Given the description of an element on the screen output the (x, y) to click on. 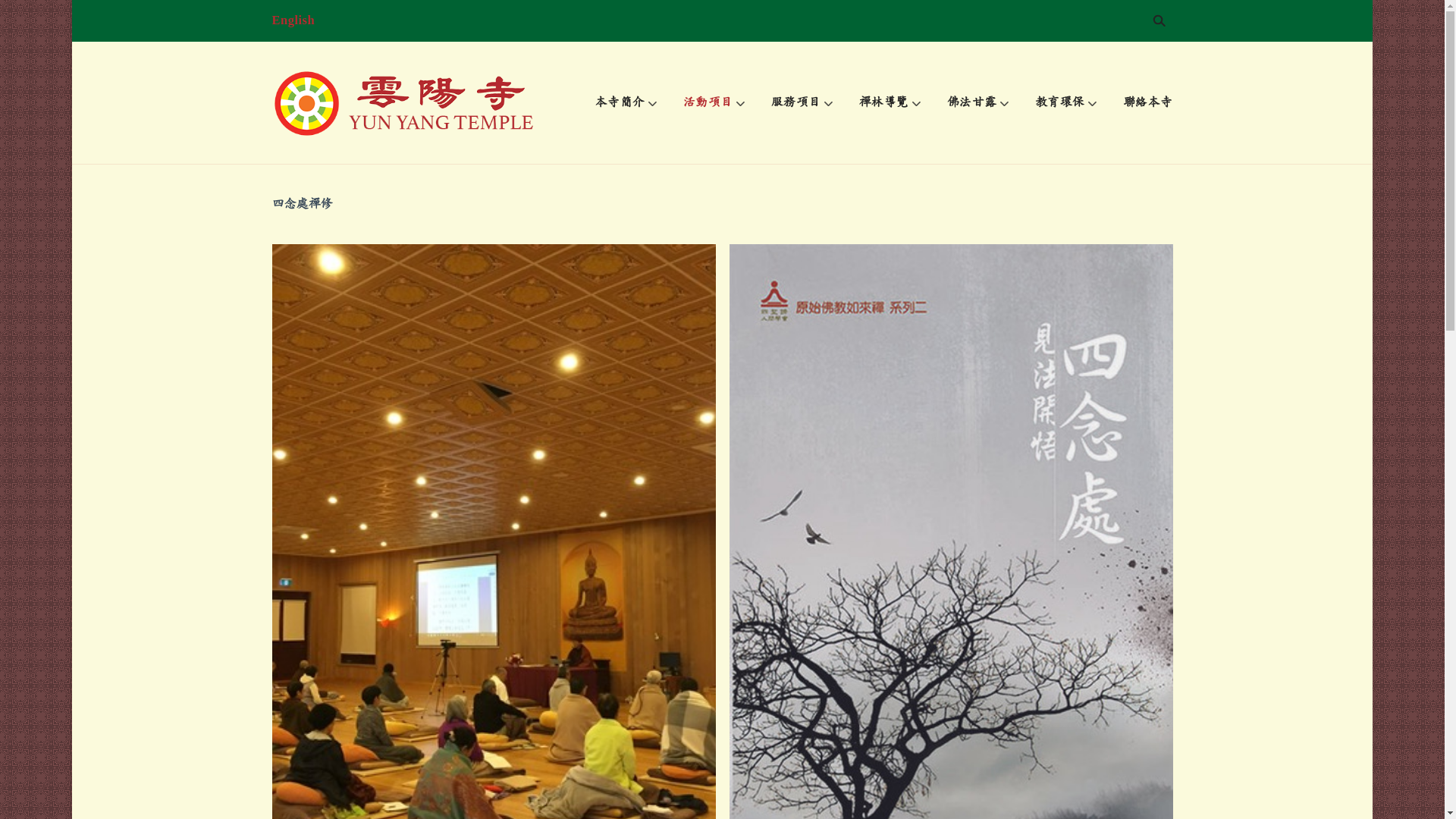
English Element type: text (292, 20)
